Given the description of an element on the screen output the (x, y) to click on. 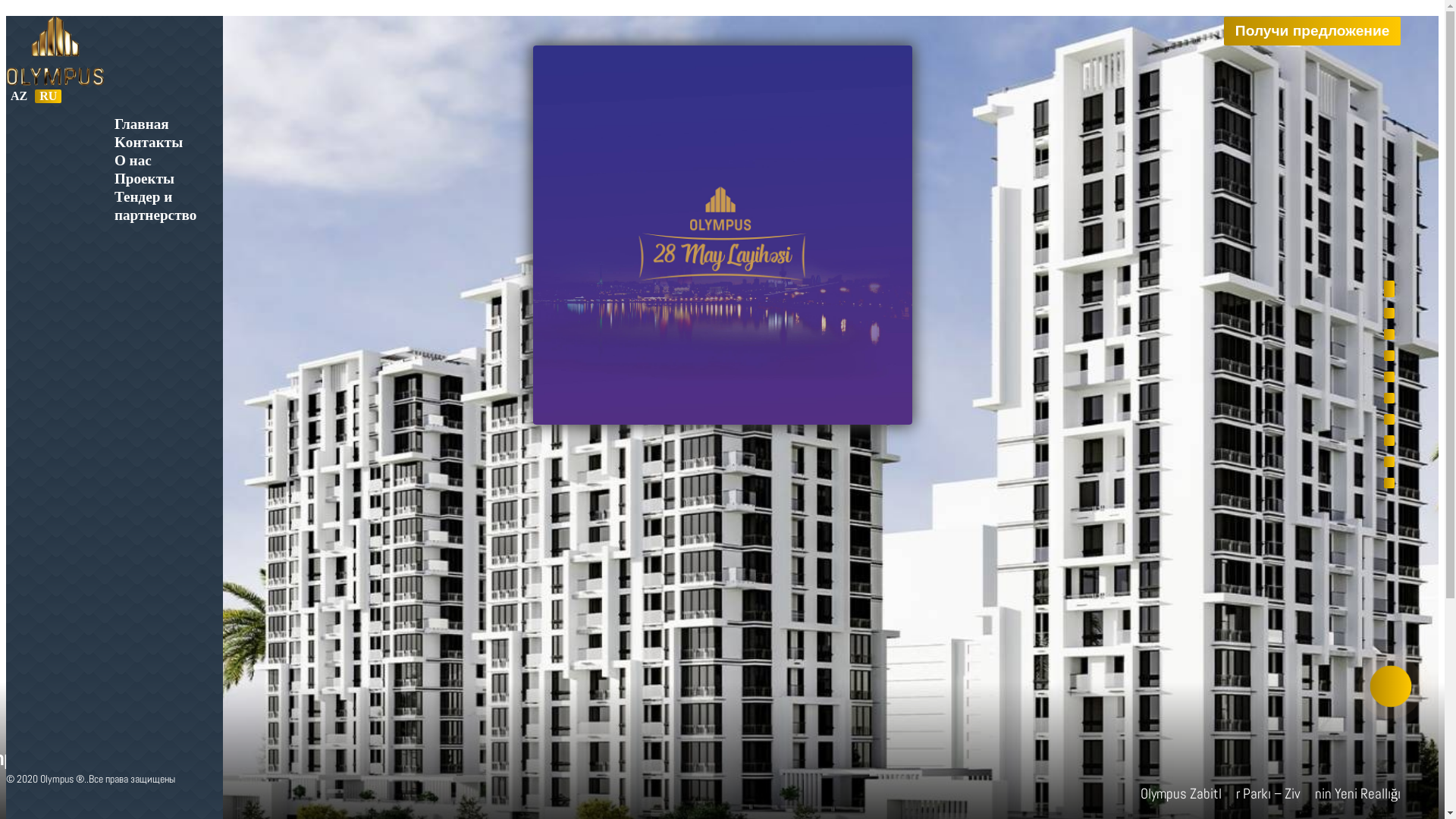
AZ Element type: text (18, 96)
RU Element type: text (47, 96)
